Given the description of an element on the screen output the (x, y) to click on. 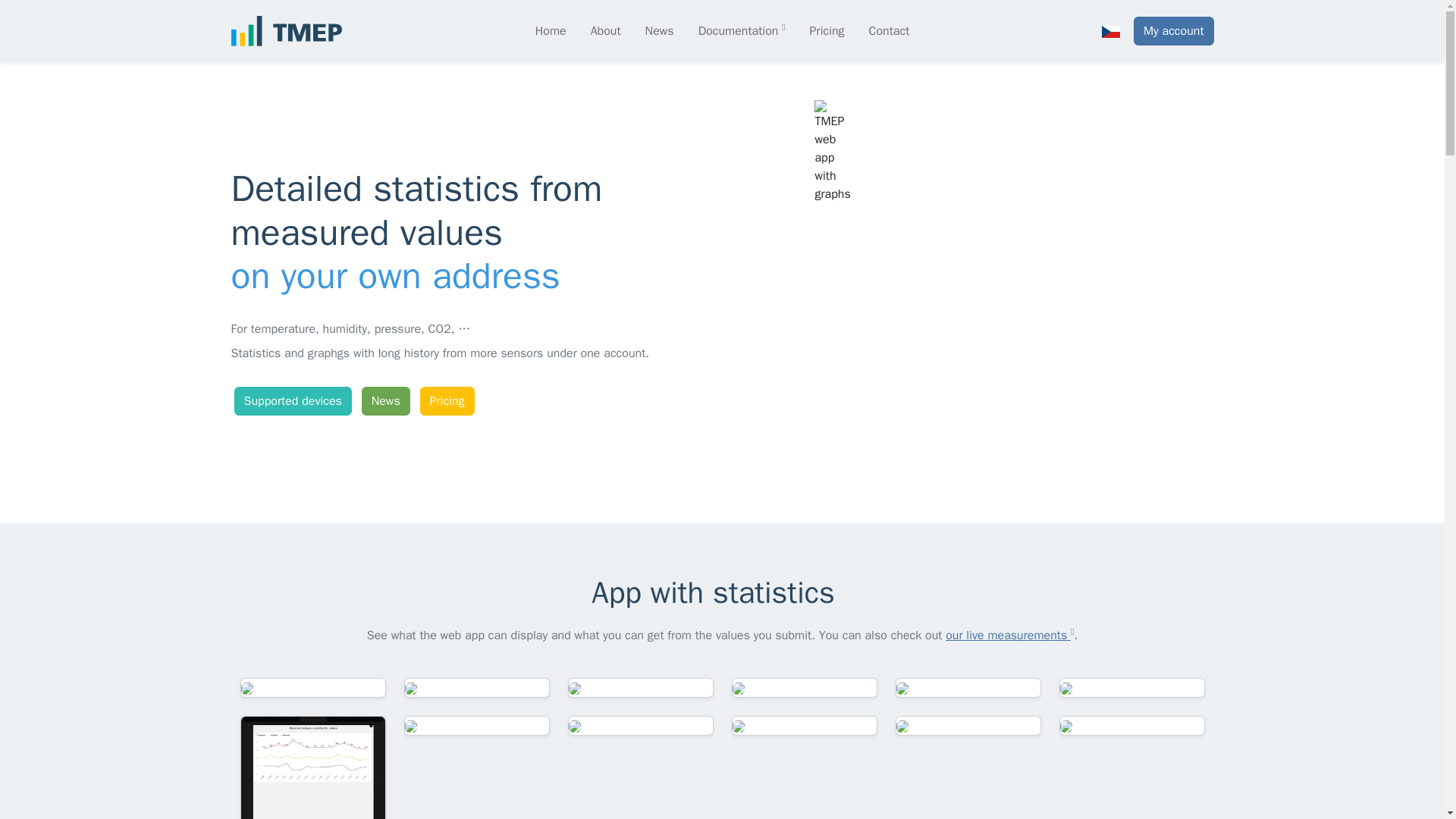
News (385, 400)
our live measurements (1009, 635)
My account (1174, 30)
Home (550, 30)
Pricing (826, 30)
News (659, 30)
About (606, 30)
Supported devices (291, 400)
Documentation (742, 30)
Contact (889, 30)
